Given the description of an element on the screen output the (x, y) to click on. 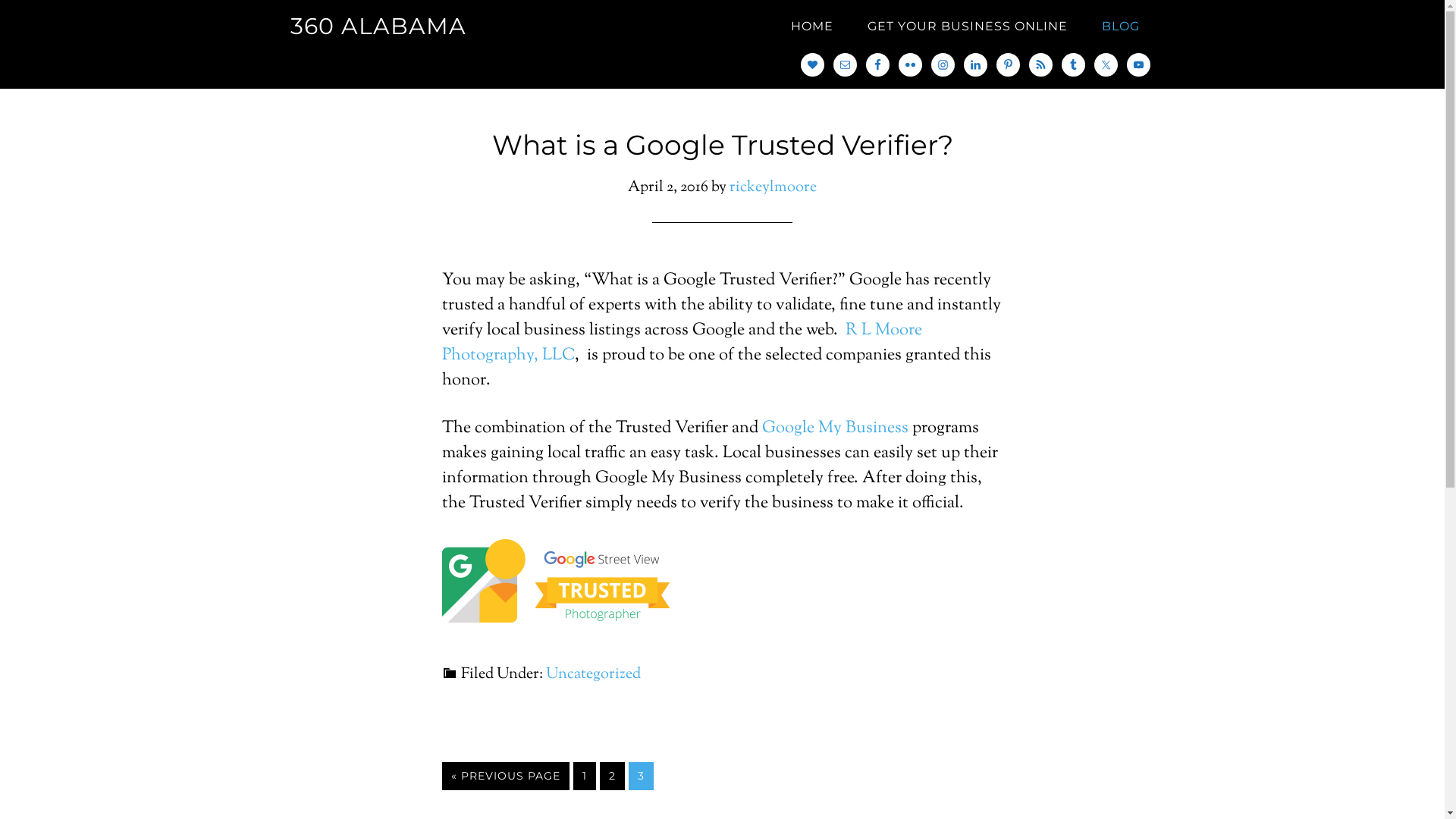
GET YOUR BUSINESS ONLINE Element type: text (967, 26)
rickeylmoore Element type: text (772, 187)
HOME Element type: text (811, 26)
What is a Google Trusted Verifier? Element type: text (721, 144)
R L Moore Photography, LLC Element type: text (681, 342)
2 Element type: text (611, 776)
Uncategorized Element type: text (593, 674)
1 Element type: text (584, 776)
360 ALABAMA Element type: text (377, 26)
3 Element type: text (639, 776)
Google My Business Element type: text (834, 428)
BLOG Element type: text (1119, 26)
